Given the description of an element on the screen output the (x, y) to click on. 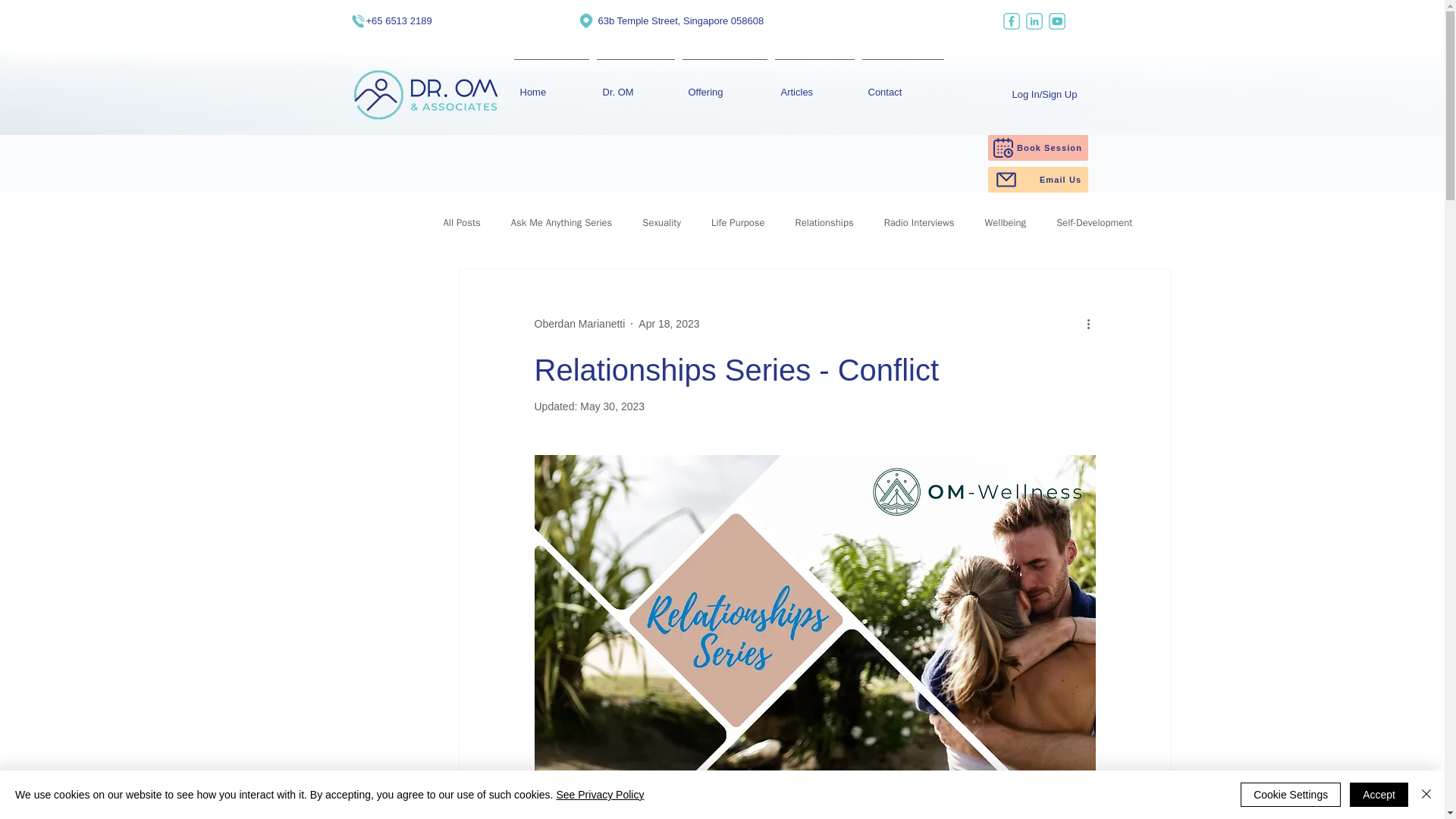
Articles (813, 84)
Self-Development (1094, 223)
Dr. OM (635, 84)
Apr 18, 2023 (668, 322)
All Posts (461, 223)
Sexuality (661, 223)
Ask Me Anything Series (561, 223)
Radio Interviews (919, 223)
Oberdan Marianetti (579, 323)
Relationships Retreat (859, 788)
